Given the description of an element on the screen output the (x, y) to click on. 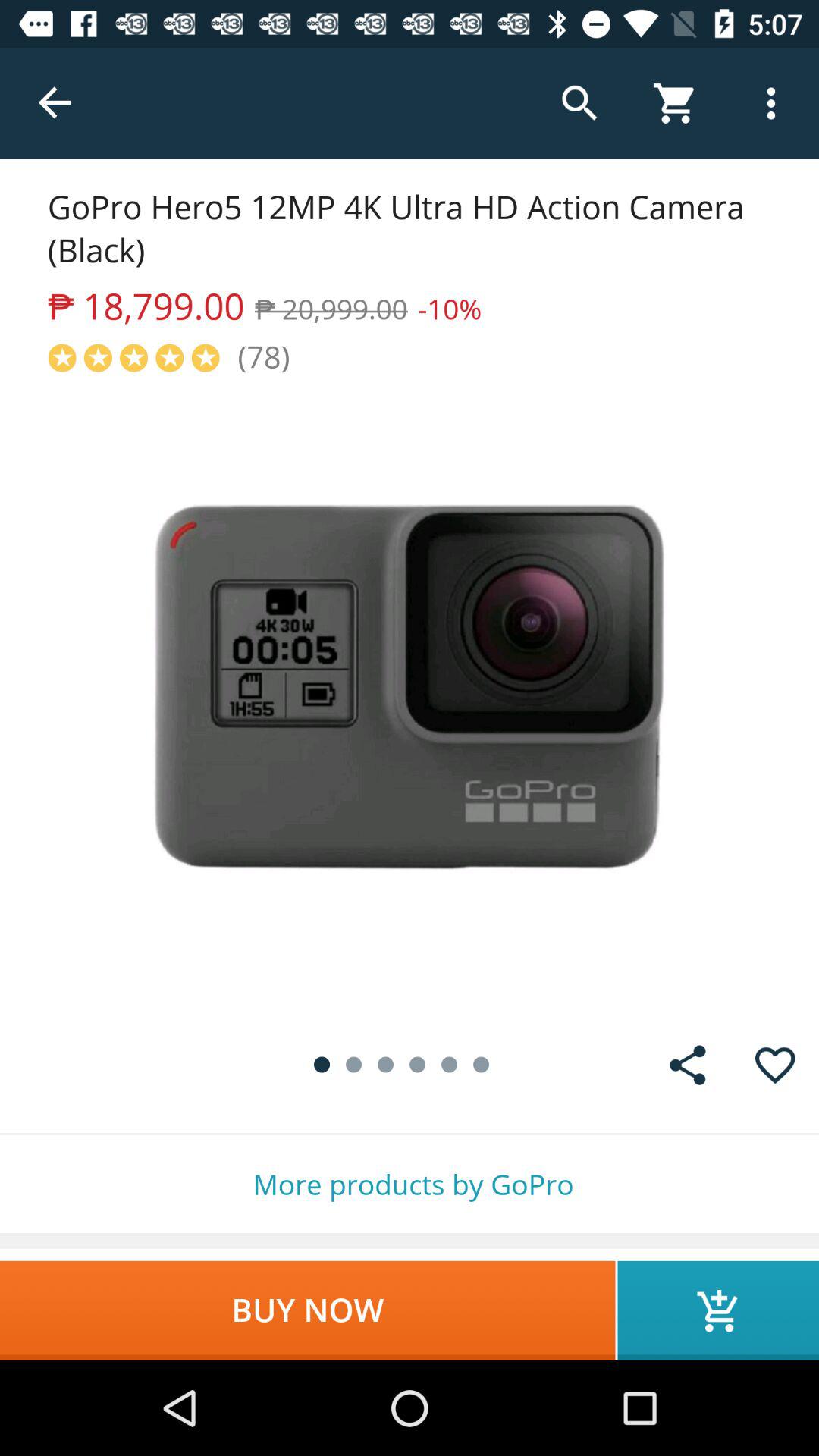
scroll until buy now icon (307, 1310)
